Given the description of an element on the screen output the (x, y) to click on. 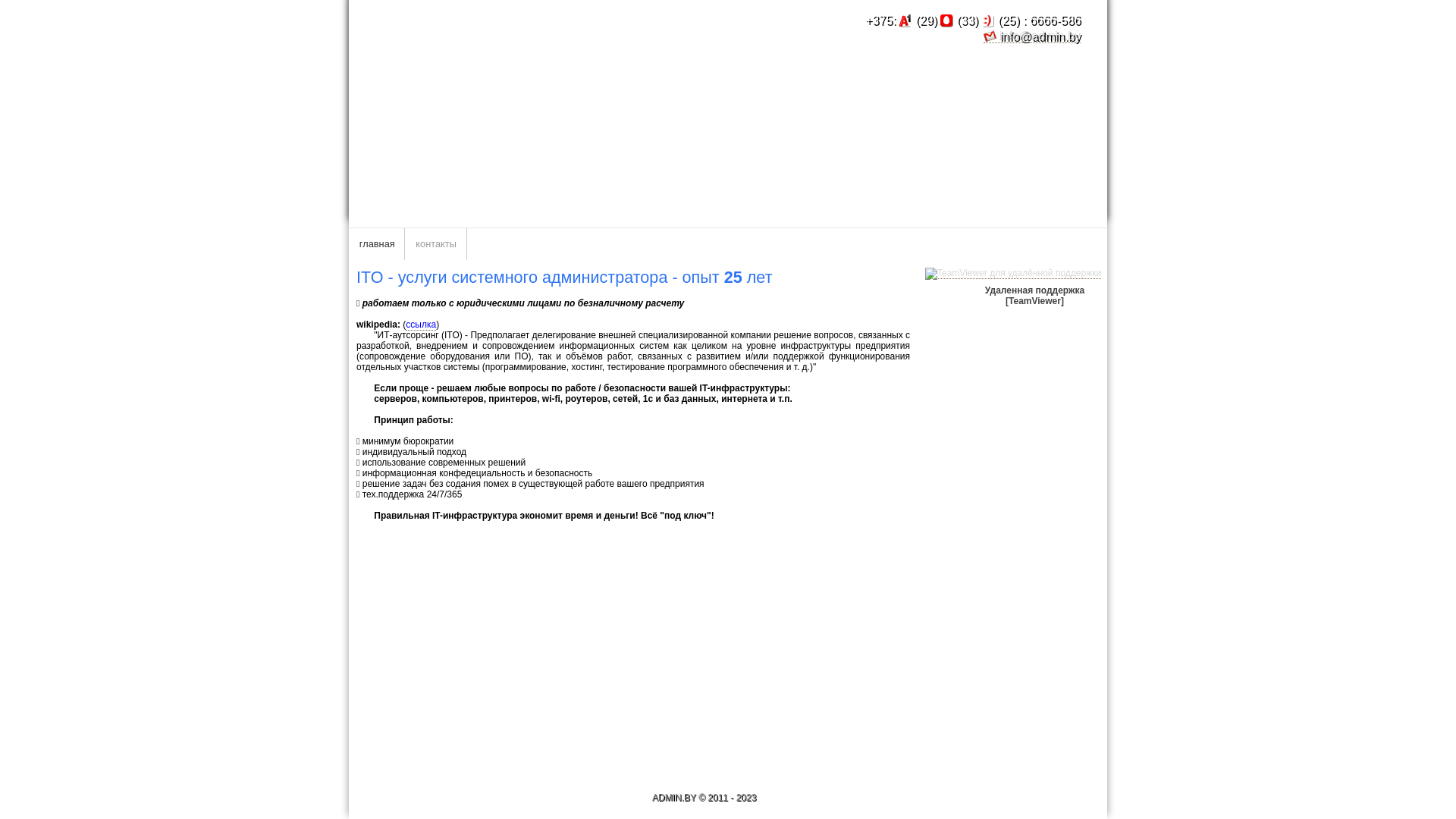
info@admin.by Element type: text (1031, 36)
